Given the description of an element on the screen output the (x, y) to click on. 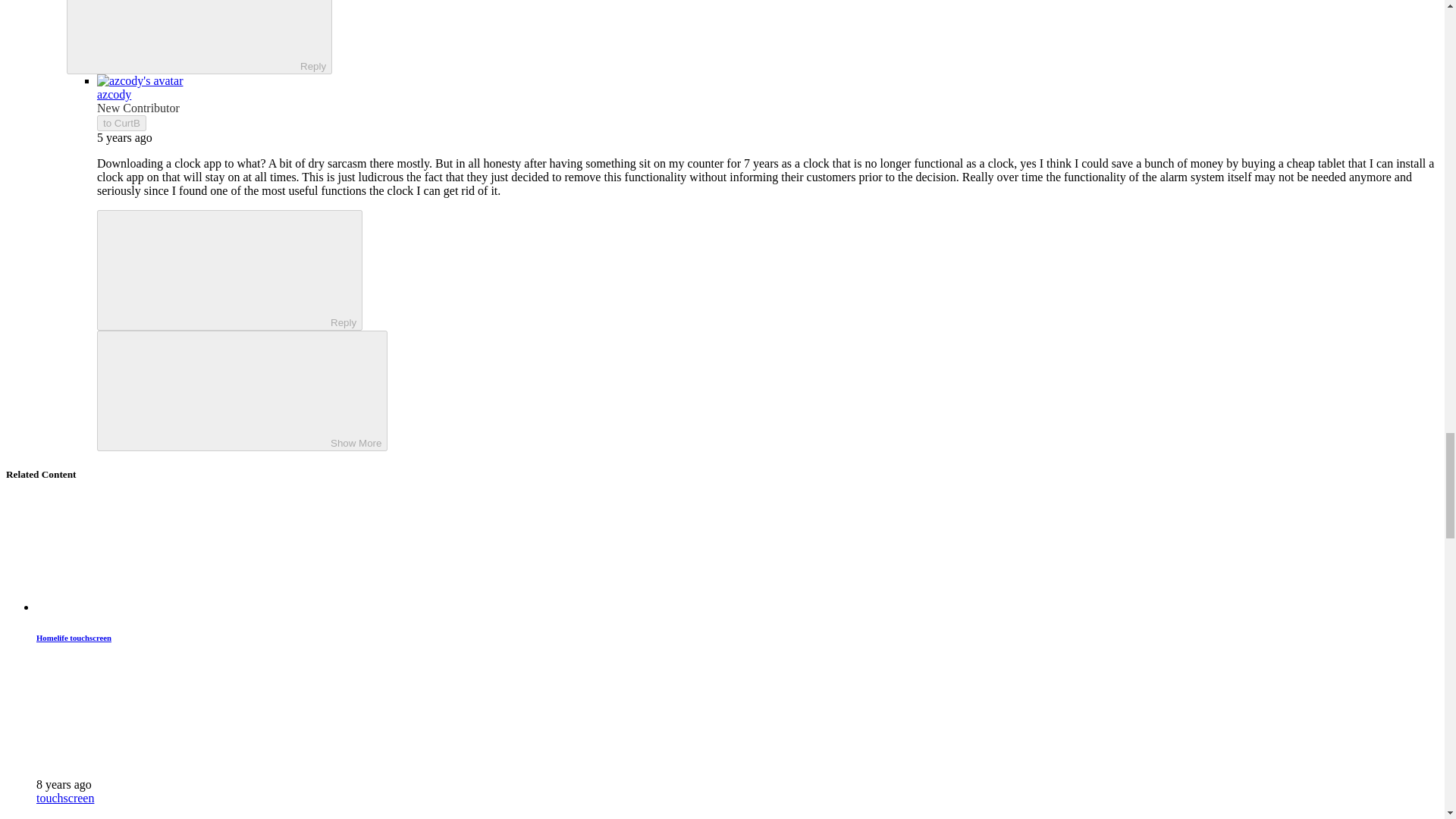
Reply (185, 34)
August 27, 2017 at 2:39 PM (63, 784)
December 21, 2019 at 4:49 AM (124, 137)
Reply (216, 268)
